Given the description of an element on the screen output the (x, y) to click on. 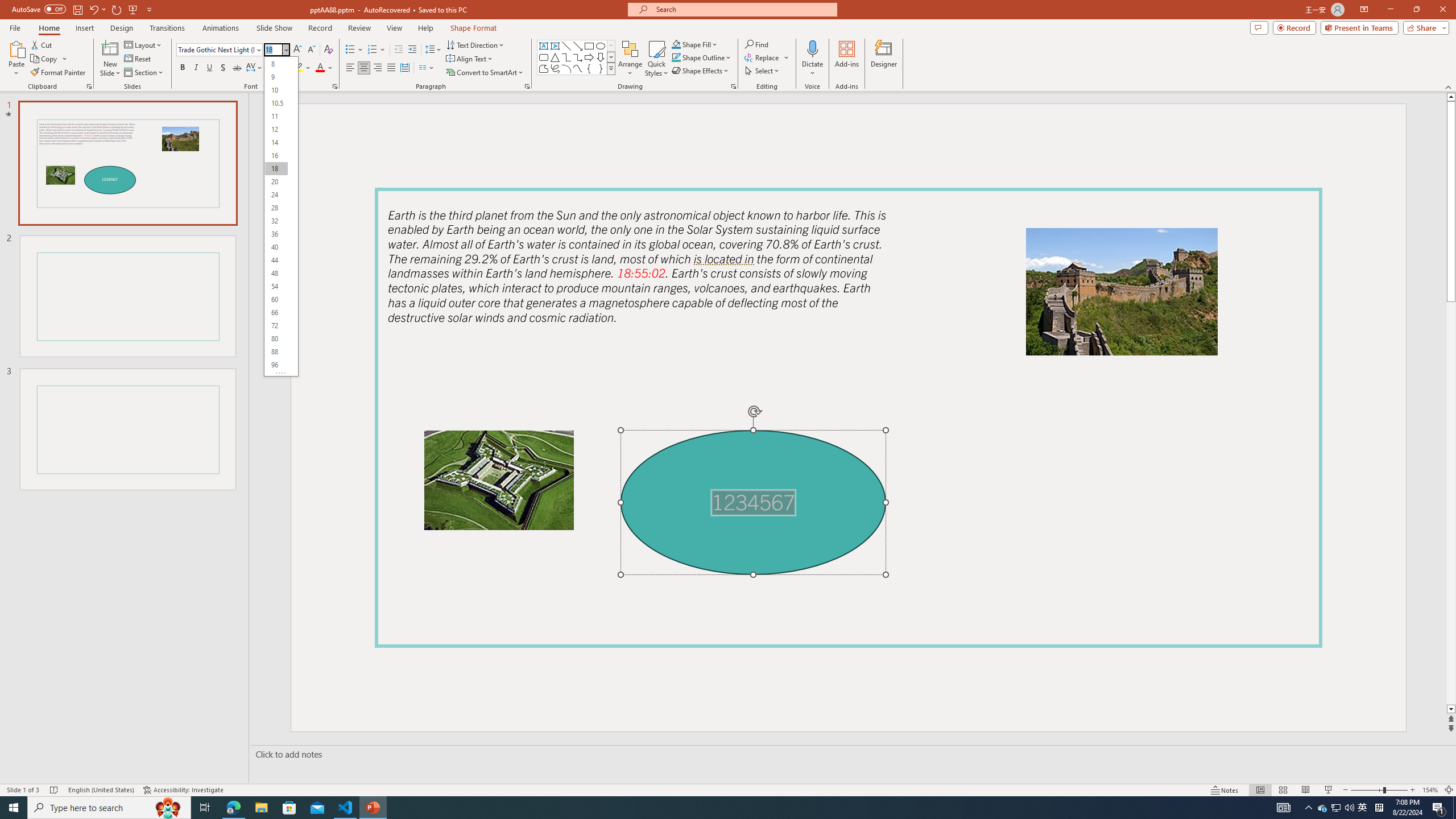
32 (276, 220)
18 (276, 168)
36 (276, 233)
